Given the description of an element on the screen output the (x, y) to click on. 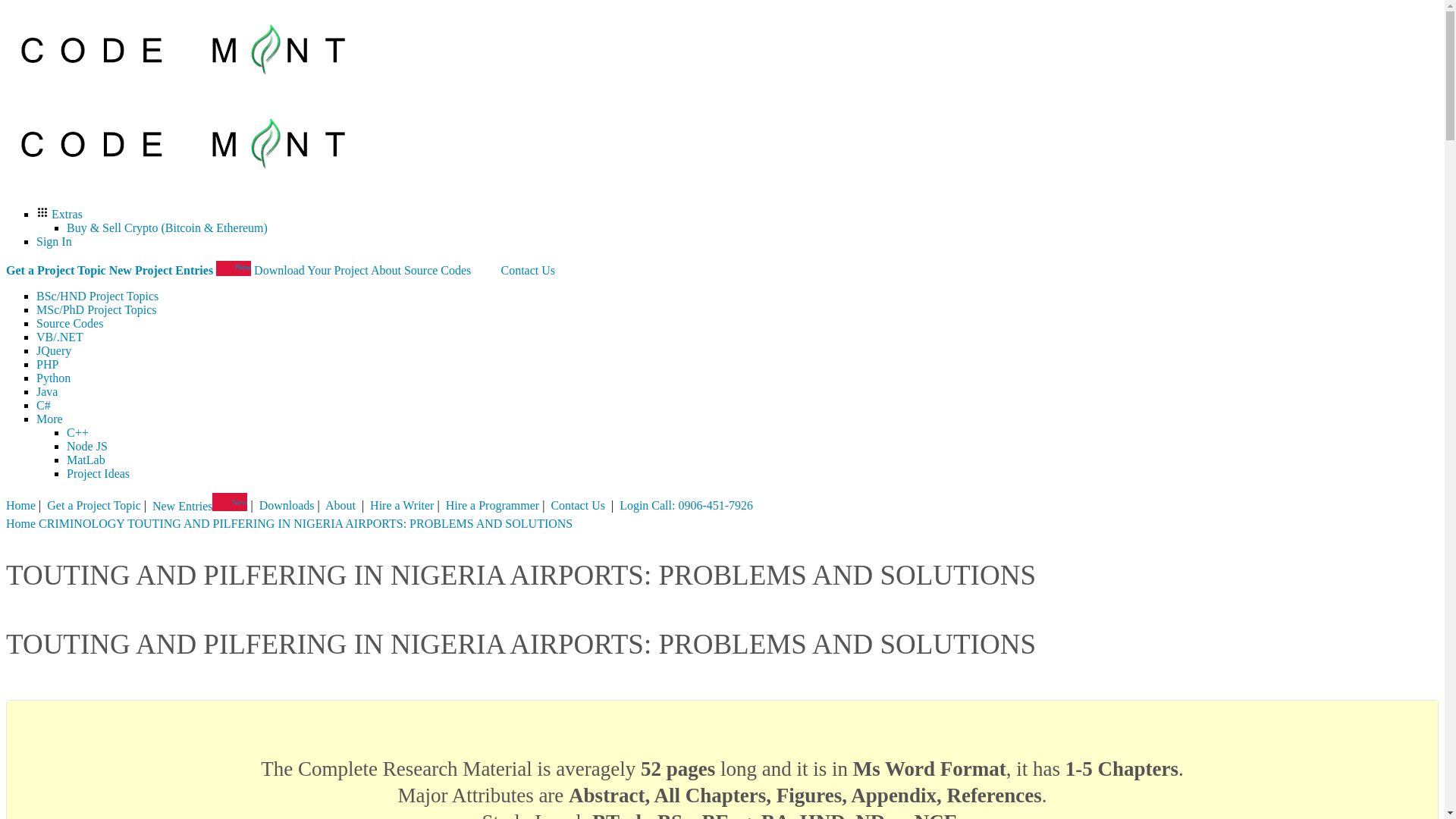
Contact Us (577, 505)
Downloads (286, 505)
Get a Project Topic (92, 505)
Home (19, 522)
Sign In (53, 241)
About (341, 505)
Source Codes (437, 269)
New Project Entries New (179, 269)
New EntriesNew (199, 505)
Learn More About Us at CodeMint (386, 269)
Call: 0906-451-7926 (701, 505)
Get a Project Topic (55, 269)
Source Codes (69, 323)
Univeristy Students and Researchers Hub - Codemint Blog (485, 269)
